Given the description of an element on the screen output the (x, y) to click on. 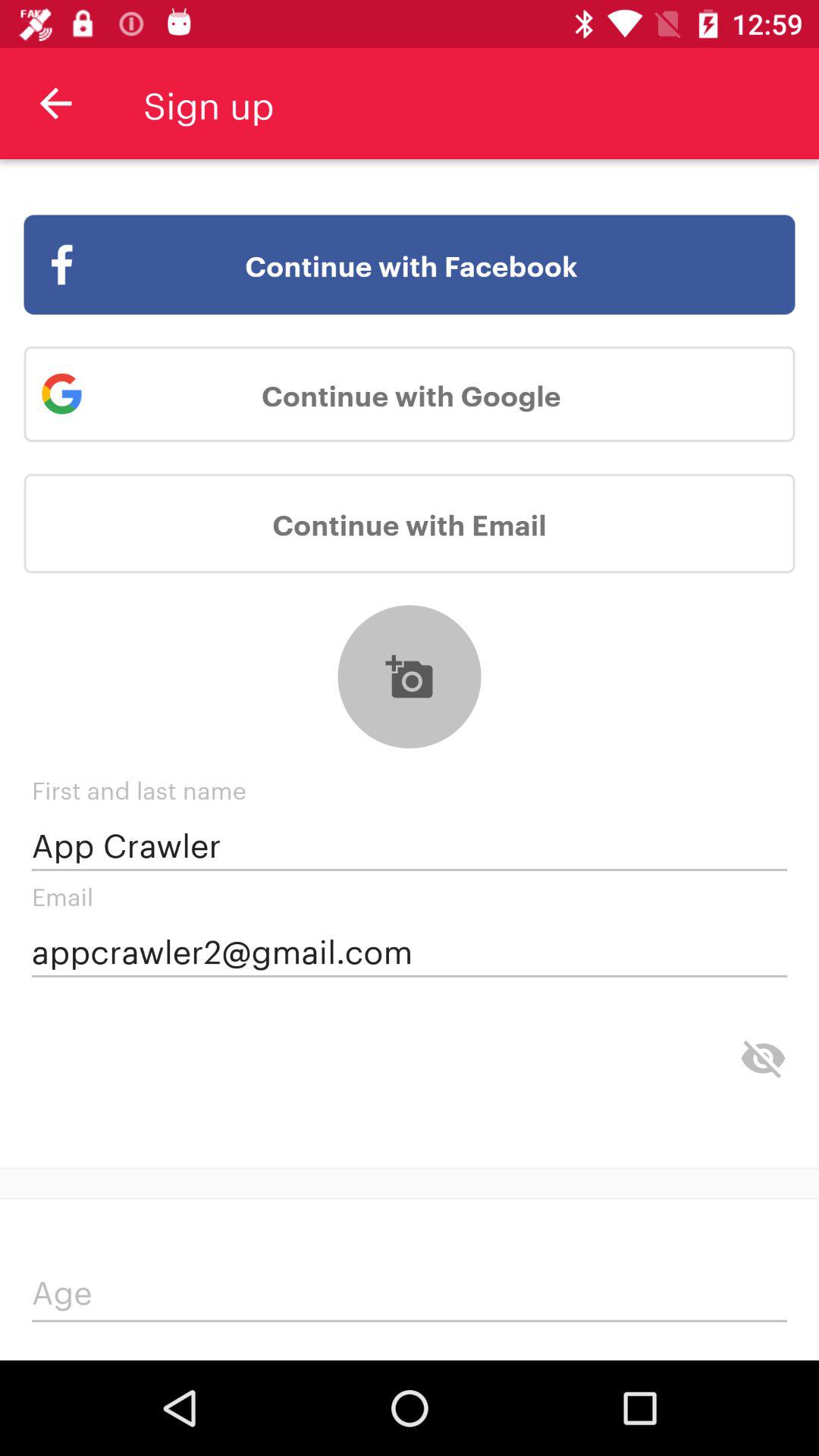
hide information (763, 1058)
